Given the description of an element on the screen output the (x, y) to click on. 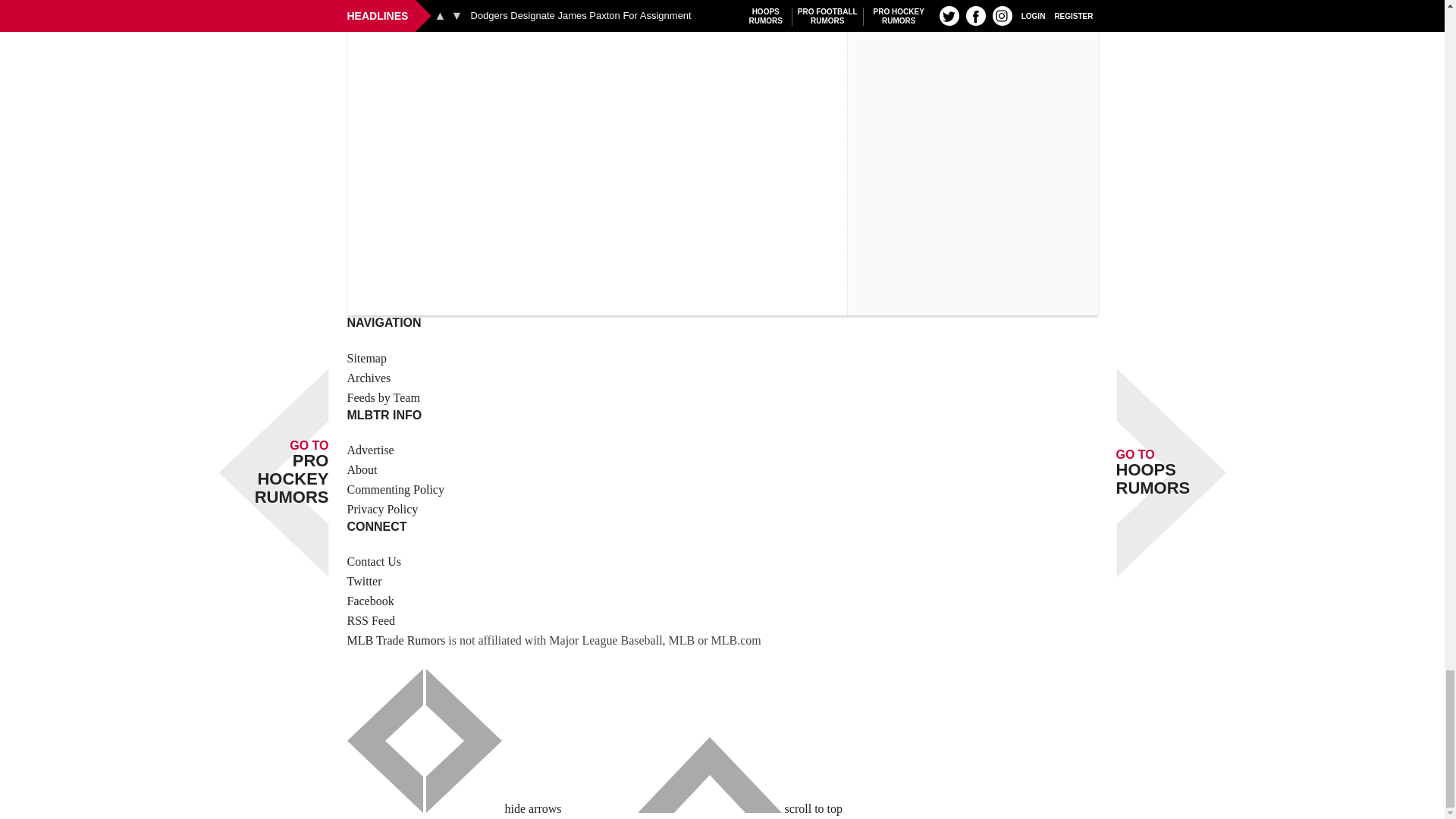
MLB Trade Rumors (396, 640)
